Given the description of an element on the screen output the (x, y) to click on. 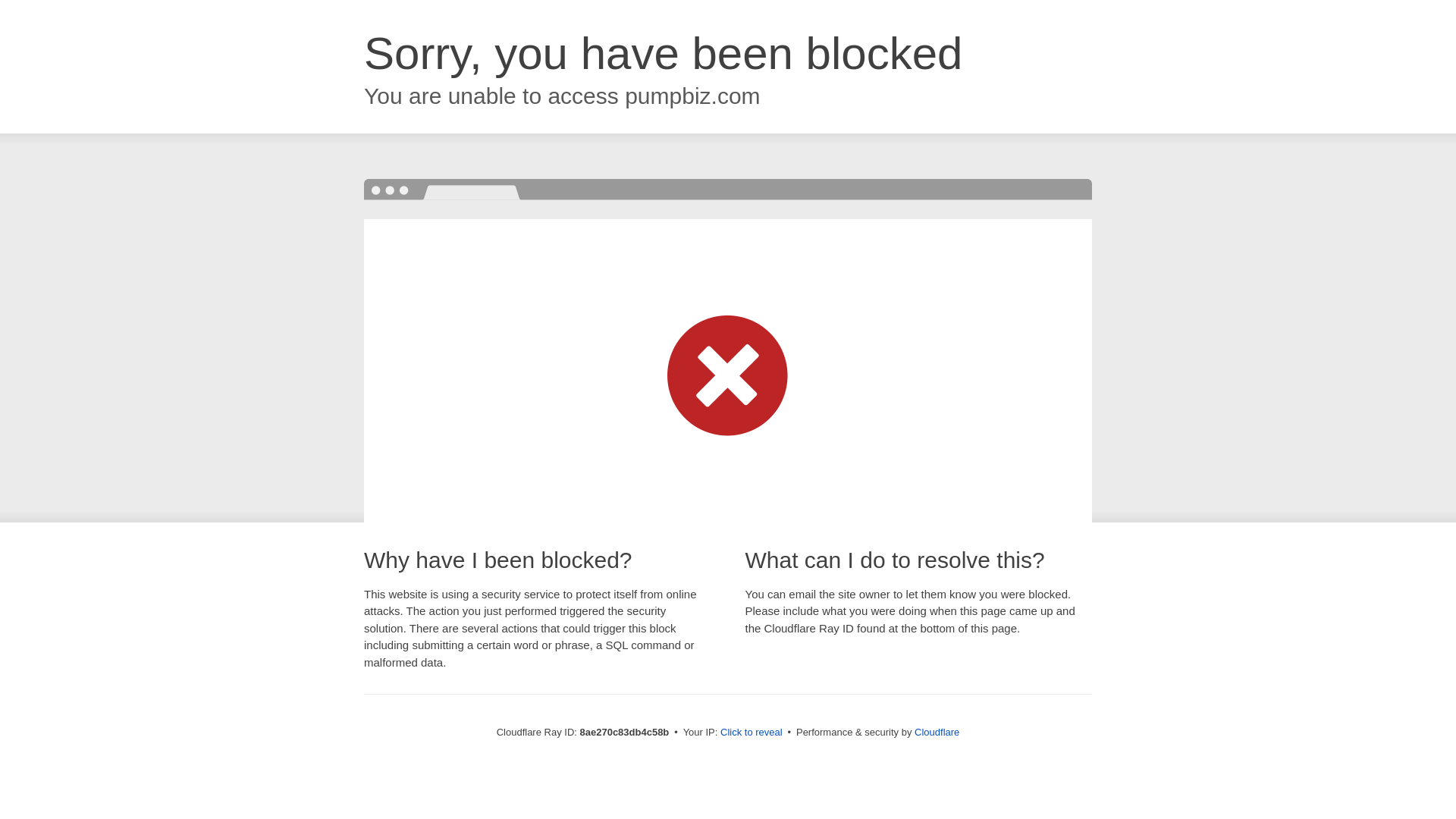
Click to reveal (751, 732)
Cloudflare (936, 731)
